Given the description of an element on the screen output the (x, y) to click on. 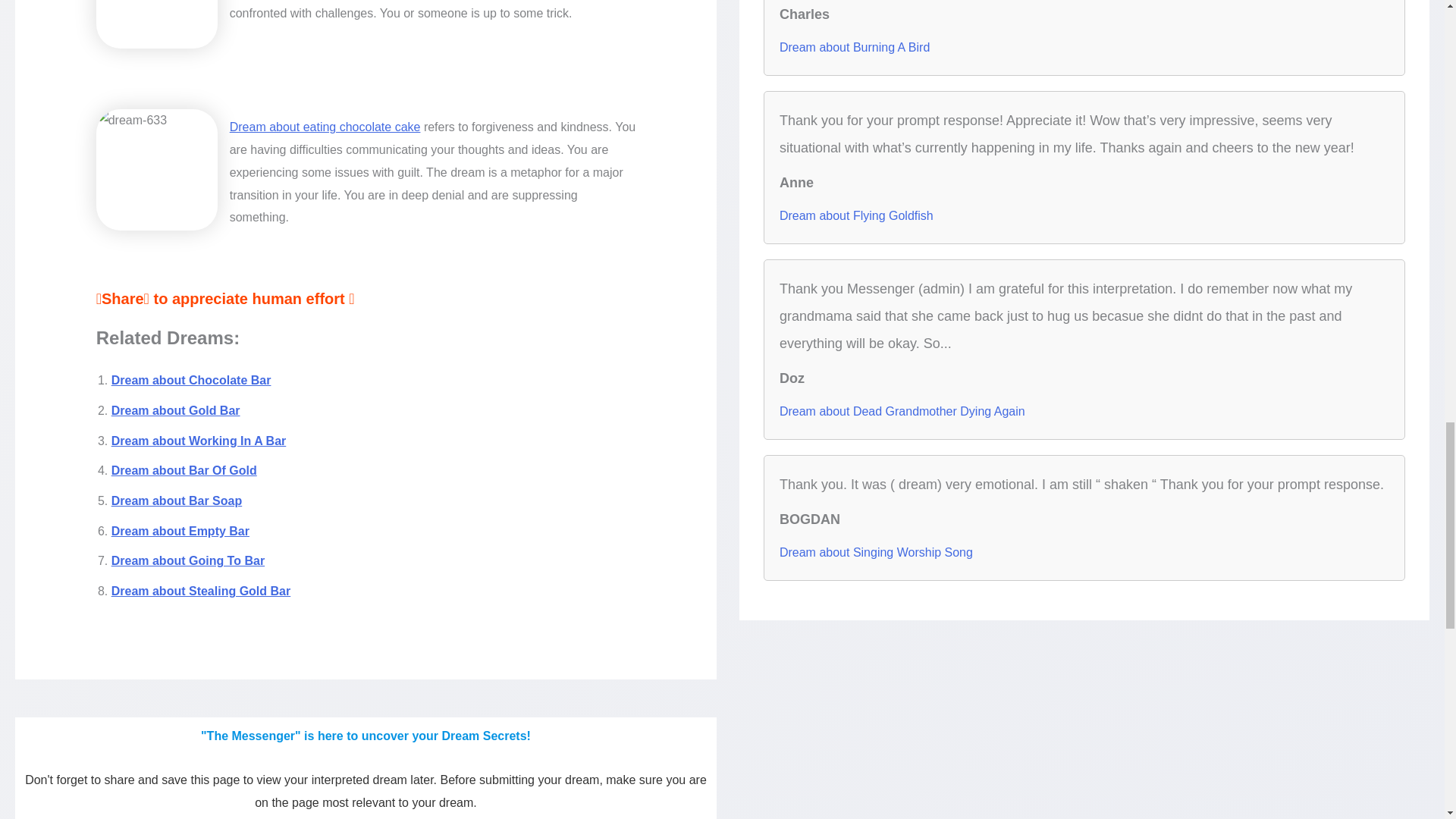
Dream about Flying Goldfish (855, 215)
Dream about Gold Bar (176, 410)
Dream about Stealing Gold Bar (200, 590)
Dream about Working In A Bar (199, 440)
Dream about Going To Bar (188, 560)
Dream about Bar Of Gold (184, 470)
Dream about Gold Bar (176, 410)
Dream about Empty Bar (180, 530)
Dream about Burning A Bird (854, 47)
Dream about Working In A Bar (199, 440)
Dream about Going To Bar (188, 560)
Dream about Chocolate Bar (191, 379)
Dream about Stealing Gold Bar (200, 590)
Dream about Bar Soap (176, 500)
Dream about Empty Bar (180, 530)
